Given the description of an element on the screen output the (x, y) to click on. 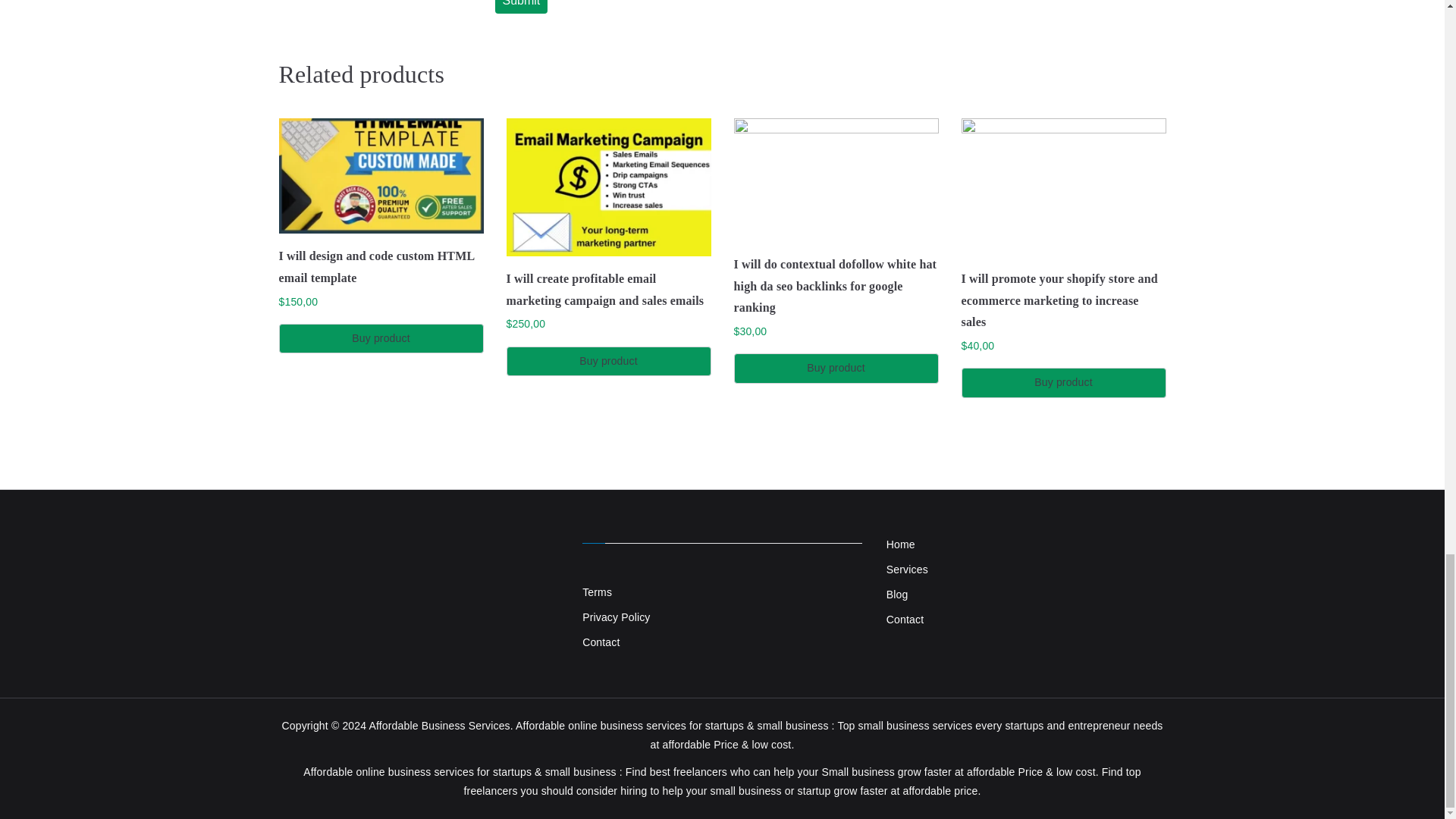
Buy product (836, 367)
Buy product (381, 337)
Submit (521, 6)
Affordable Business Services (438, 725)
Buy product (608, 360)
Buy product (1063, 382)
Terms (721, 592)
Submit (521, 6)
